Given the description of an element on the screen output the (x, y) to click on. 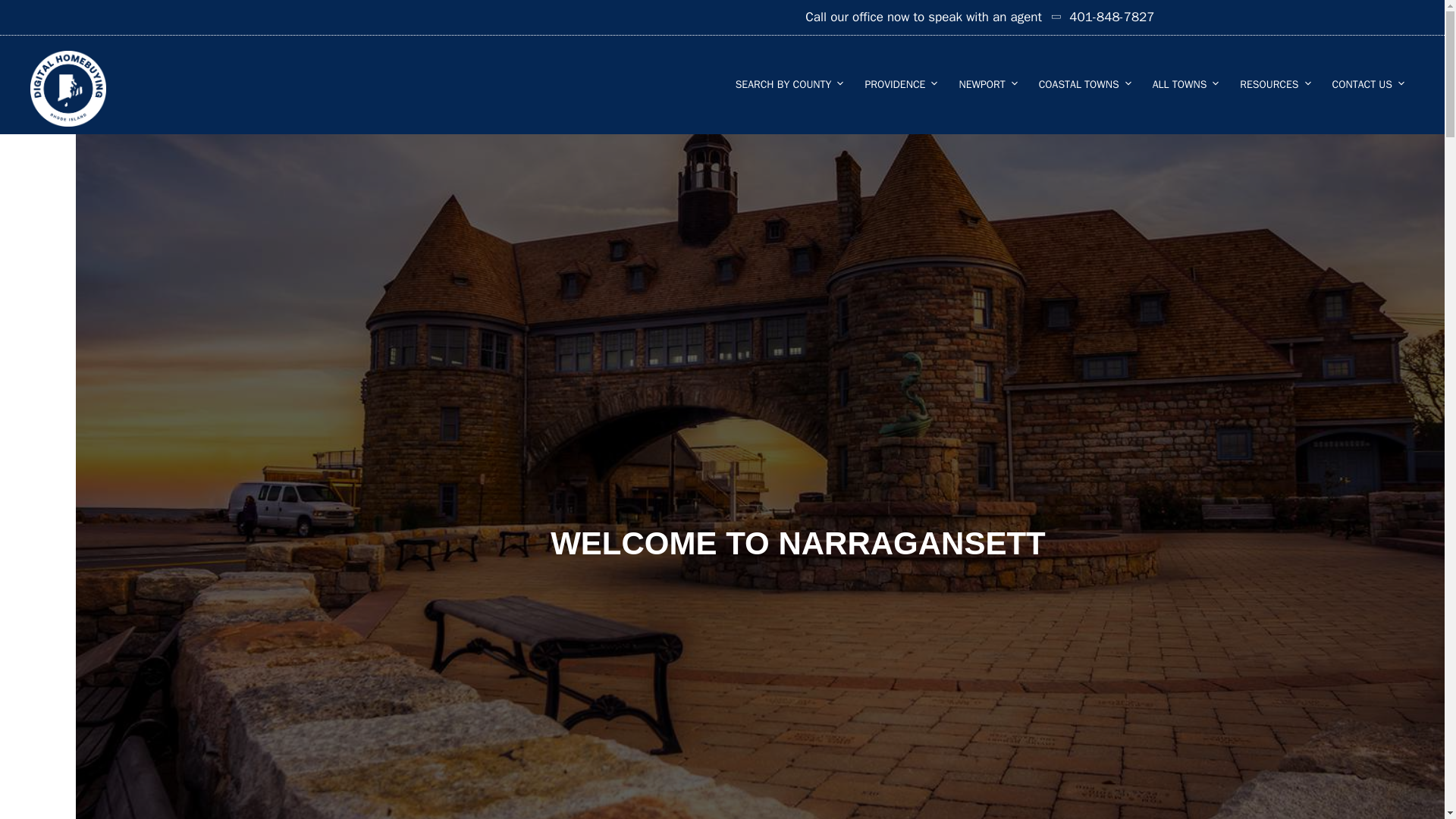
401-848-7827 (1099, 17)
COASTAL TOWNS (1084, 84)
PROVIDENCE (900, 84)
NEWPORT (986, 84)
SEARCH BY COUNTY (788, 84)
